Given the description of an element on the screen output the (x, y) to click on. 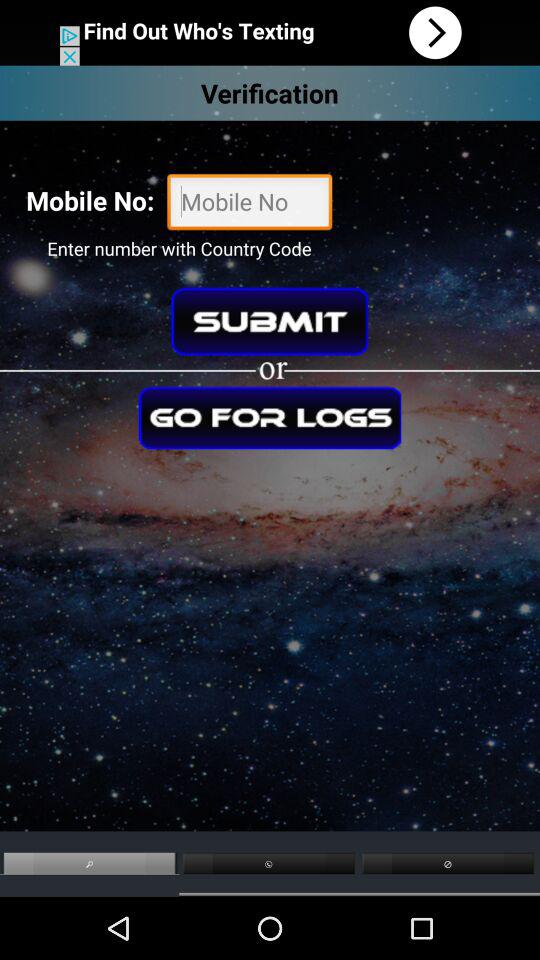
enter number (249, 204)
